Given the description of an element on the screen output the (x, y) to click on. 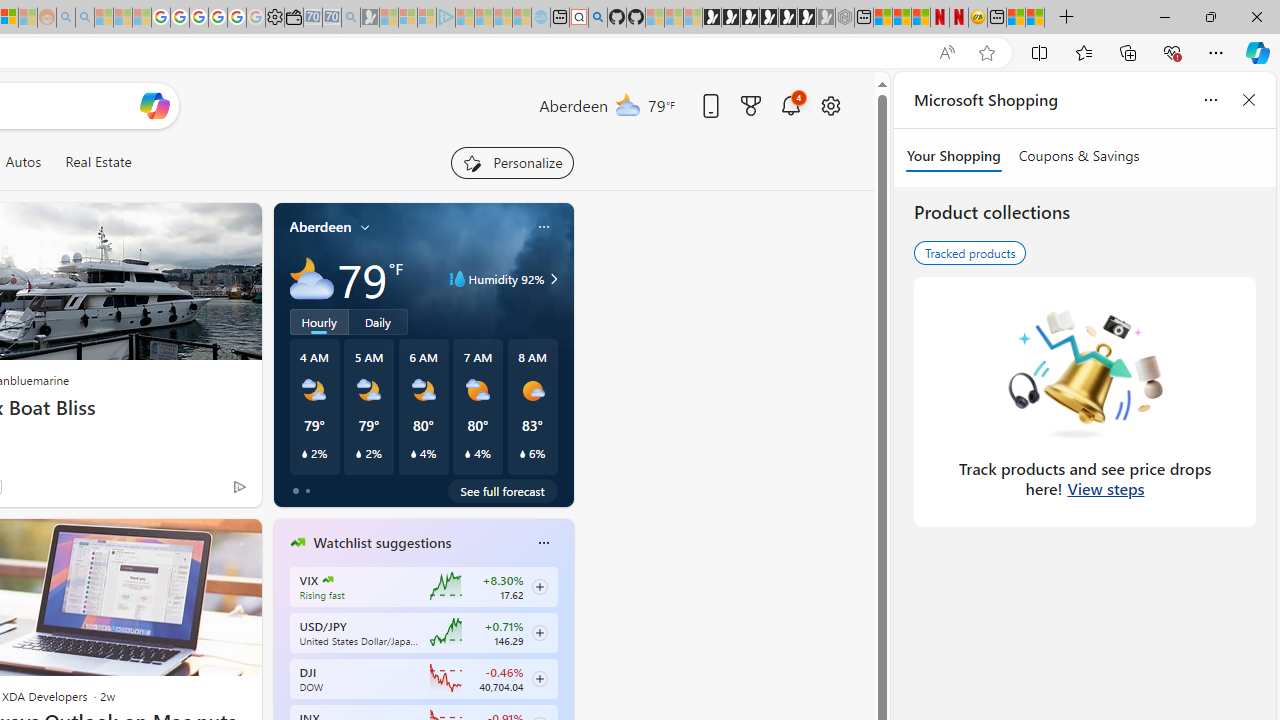
Watchlist suggestions (382, 543)
tab-0 (295, 490)
Home | Sky Blue Bikes - Sky Blue Bikes - Sleeping (541, 17)
Daily (378, 321)
Microsoft account | Privacy - Sleeping (427, 17)
Play Free Online Games | Games from Microsoft Start (711, 17)
